Given the description of an element on the screen output the (x, y) to click on. 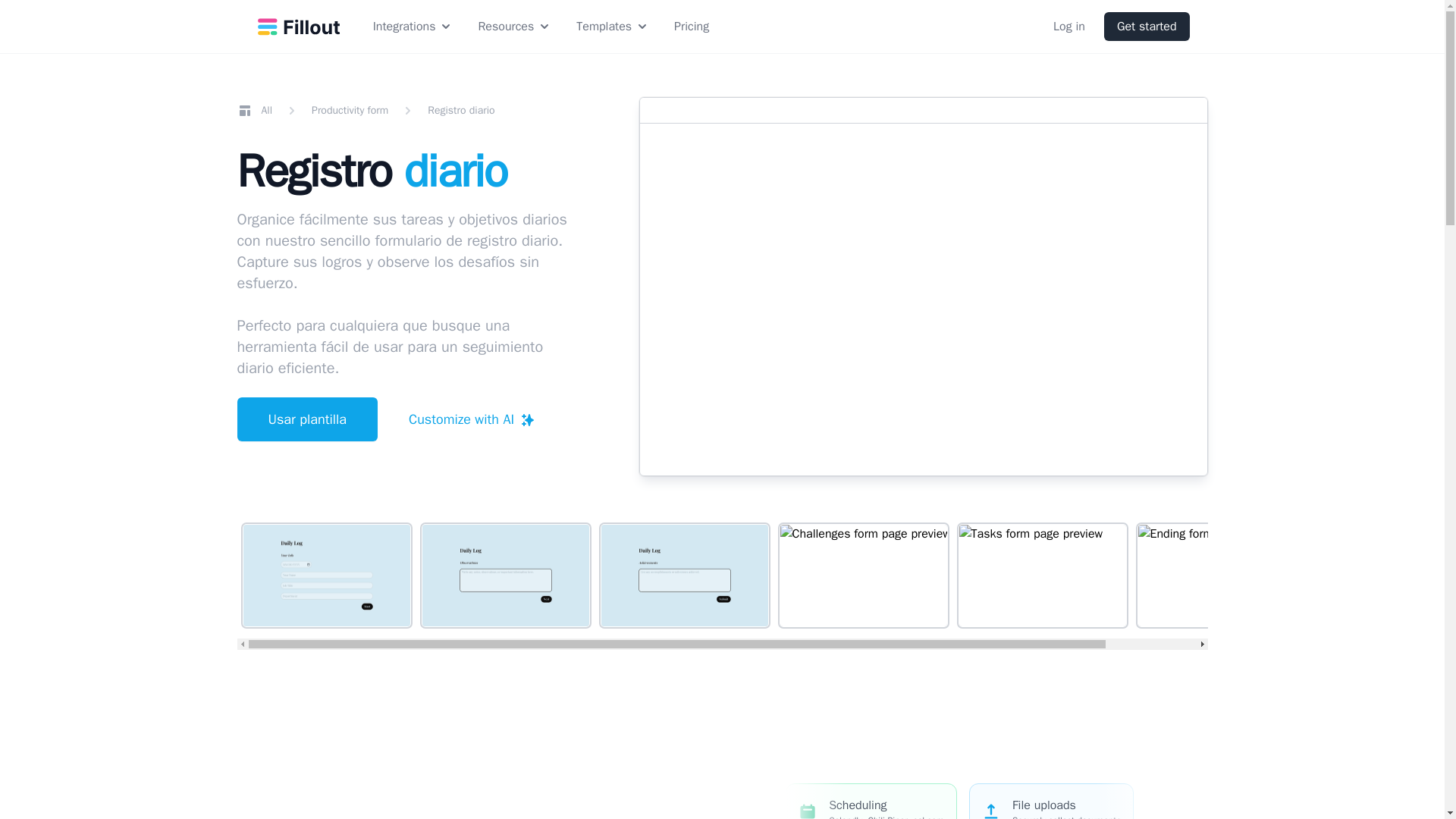
Integrations (413, 26)
Templates (612, 26)
Productivity form (349, 110)
Log in (1069, 26)
Pricing (691, 26)
Resources (514, 26)
Customize with AI (471, 419)
Get started (1146, 26)
All (253, 110)
Usar plantilla (306, 419)
Registro diario (461, 110)
